Given the description of an element on the screen output the (x, y) to click on. 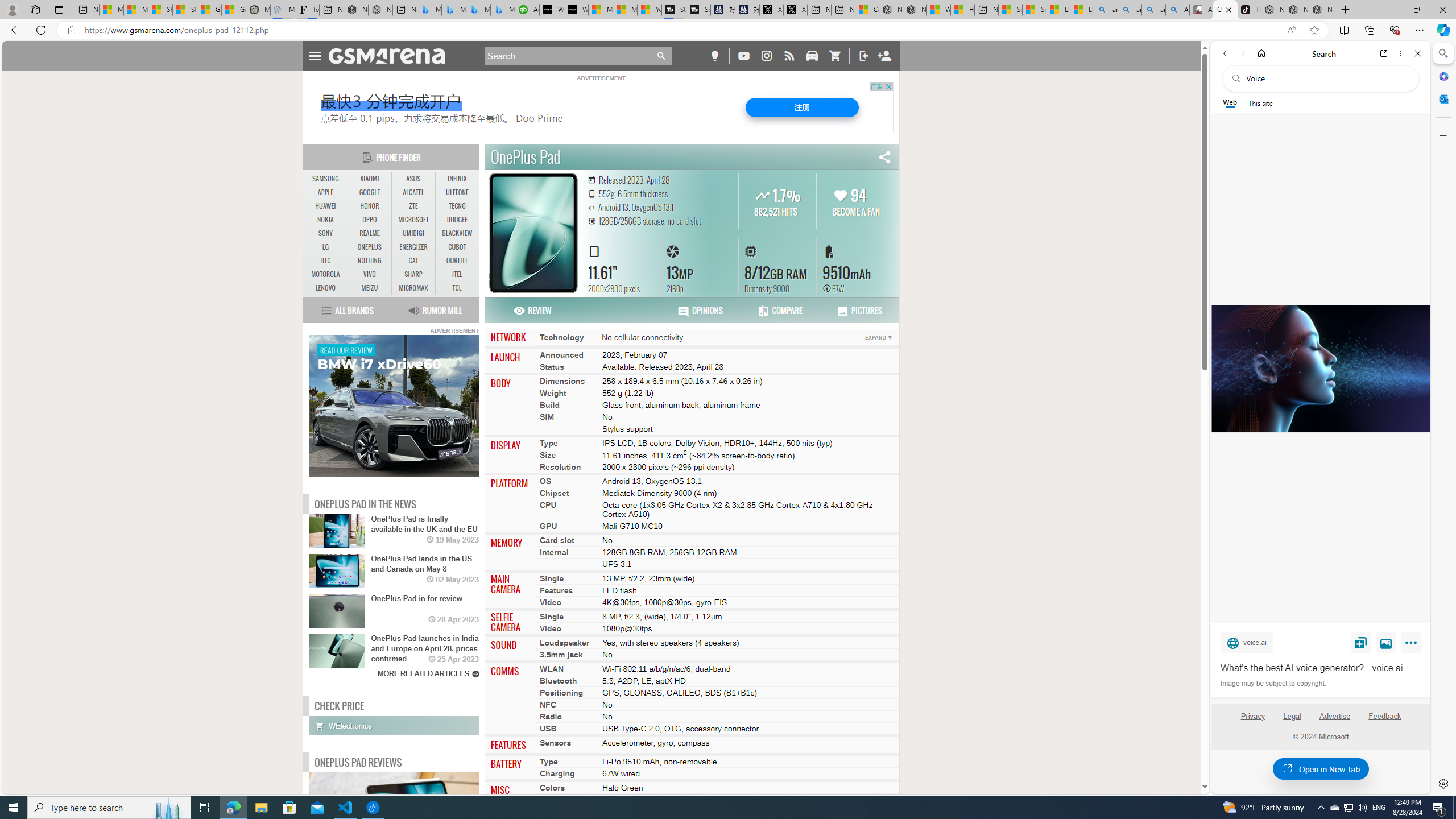
LG (325, 246)
Amazon Echo Robot - Search Images (1176, 9)
ULEFONE (457, 192)
ENERGIZER (413, 246)
MOTOROLA (325, 273)
Loudspeaker (564, 642)
Advertise (1334, 720)
Shanghai, China weather forecast | Microsoft Weather (184, 9)
Open in New Tab (1321, 768)
Go (662, 55)
3.5mm jack (561, 655)
